Given the description of an element on the screen output the (x, y) to click on. 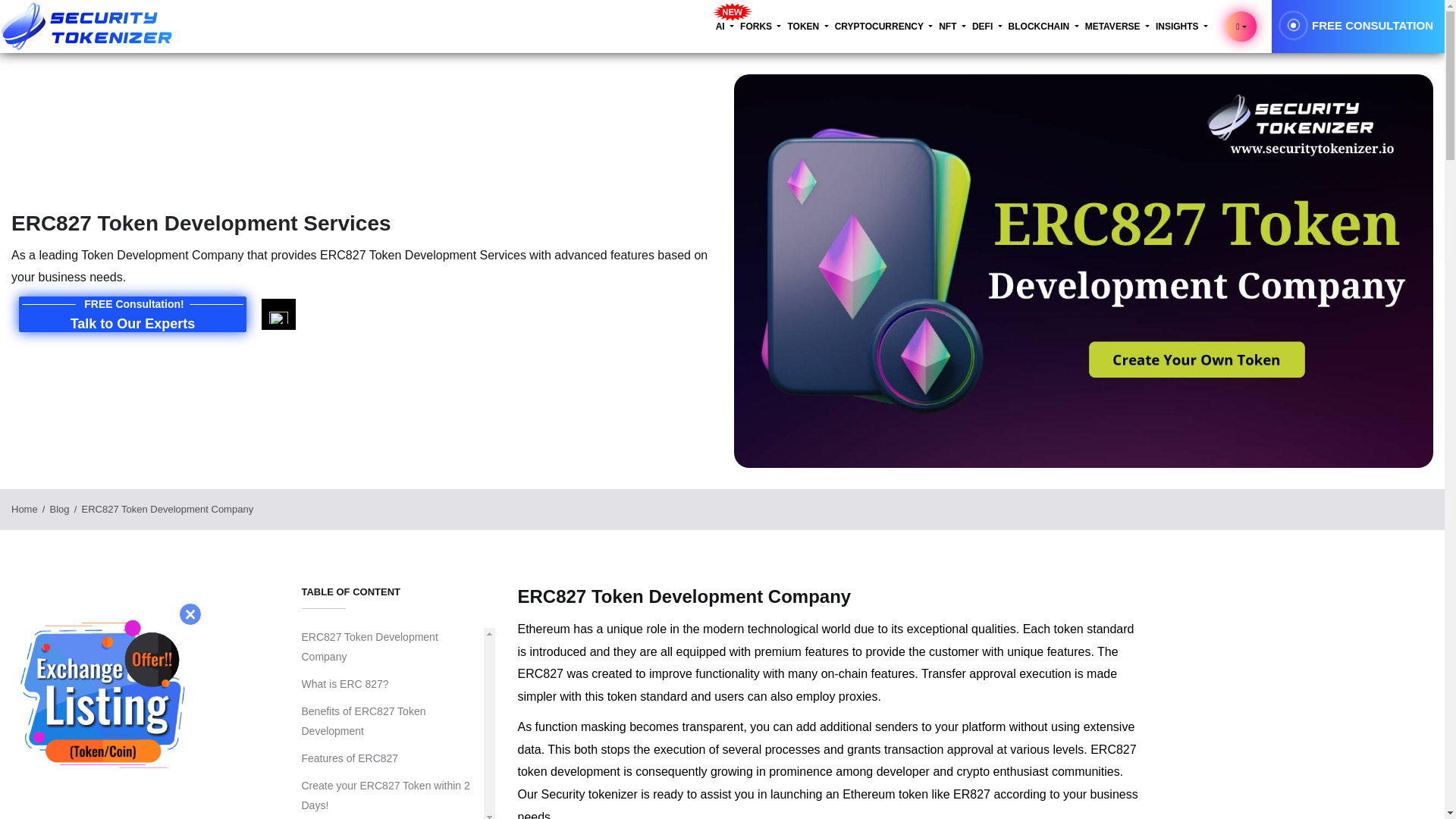
Forks (760, 26)
Security Tokenizer (87, 26)
Metaverse Development (732, 11)
FORKS (760, 26)
TOKEN (807, 26)
Token (807, 26)
